Given the description of an element on the screen output the (x, y) to click on. 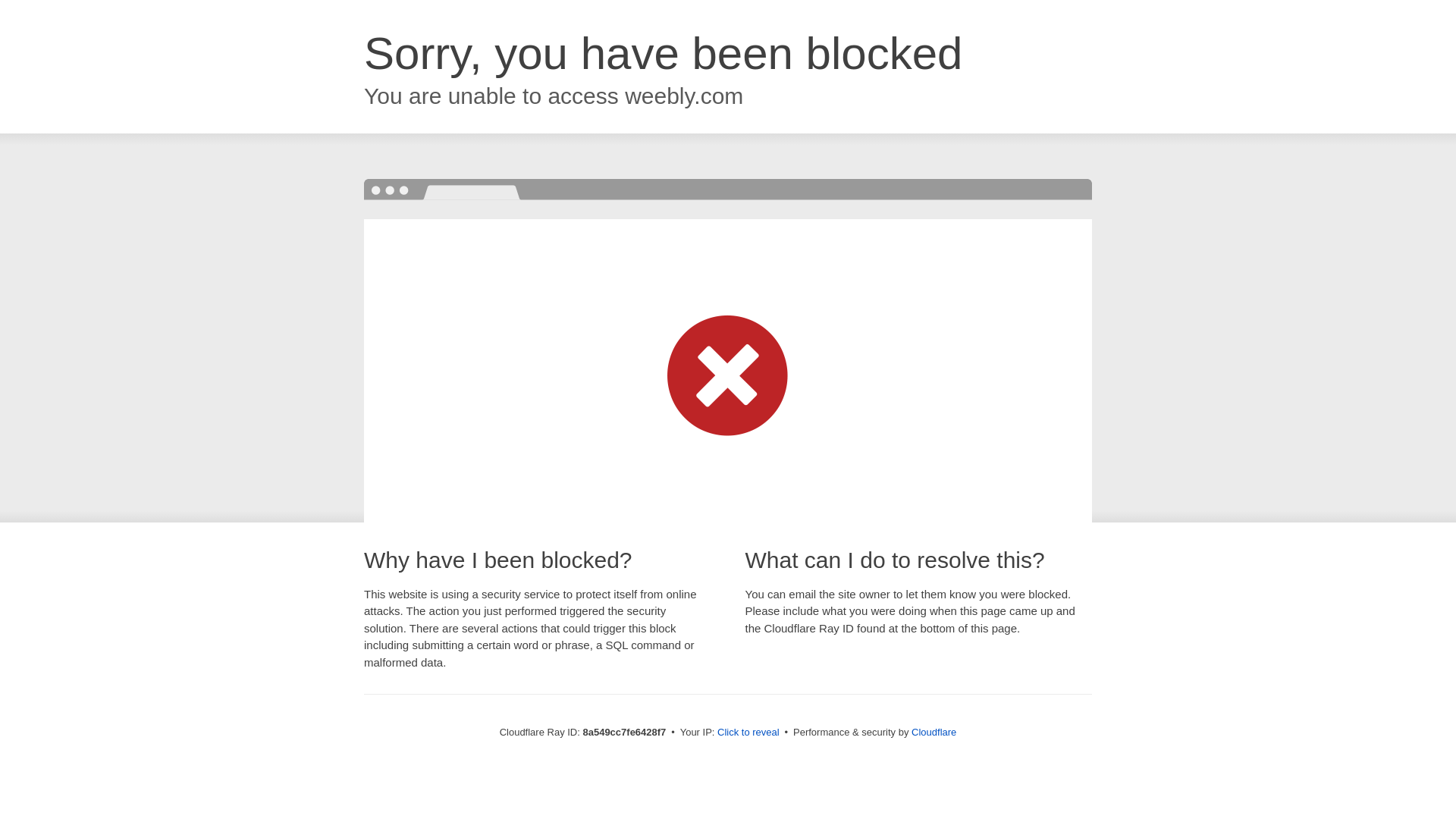
Cloudflare (933, 731)
Click to reveal (747, 732)
